Given the description of an element on the screen output the (x, y) to click on. 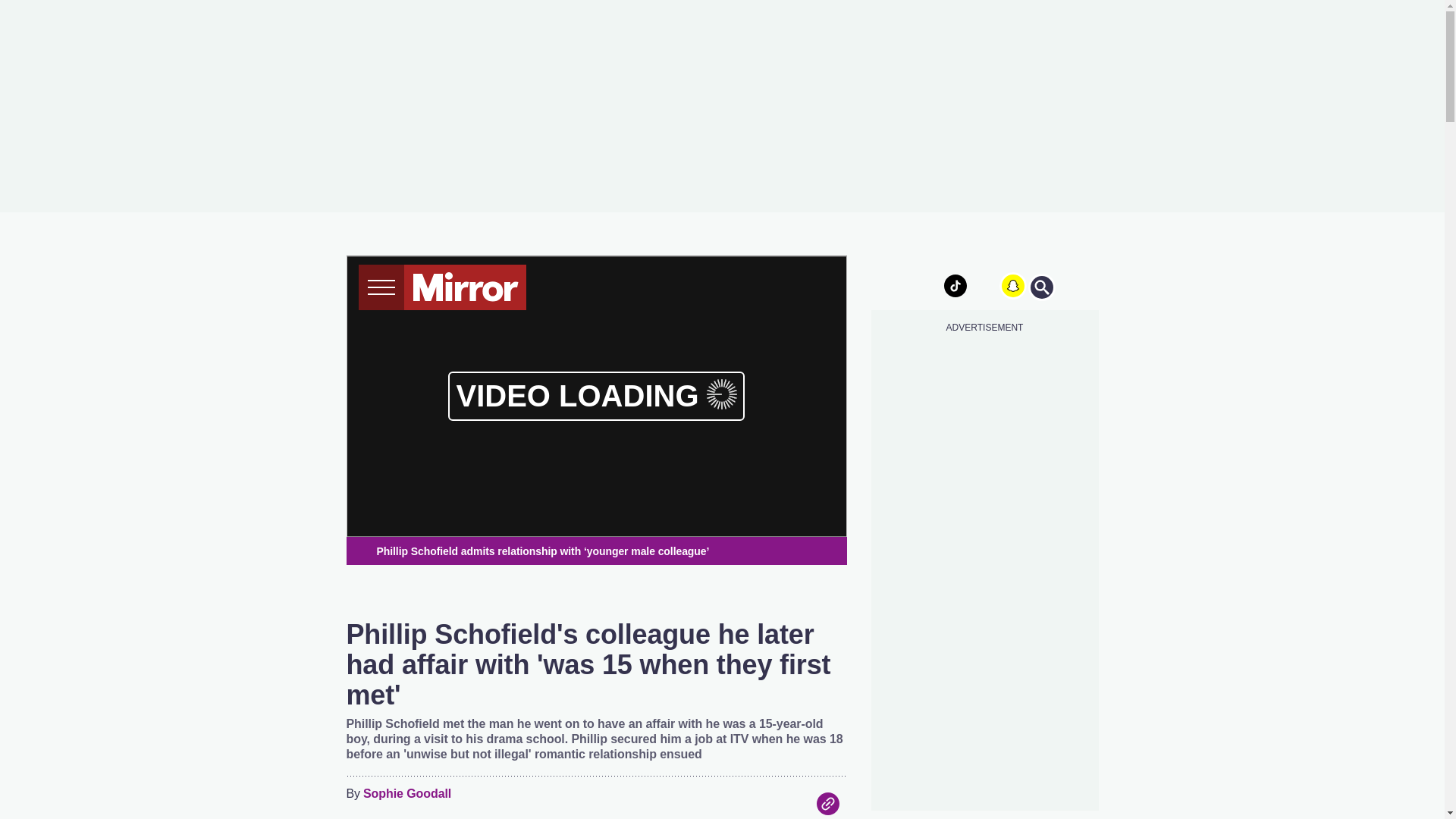
twitter (926, 285)
snapchat (1012, 285)
facebook (897, 285)
instagram (984, 285)
Whatsapp (797, 803)
Sophie Goodall (406, 794)
tiktok (955, 285)
Twitter (766, 803)
Facebook (736, 803)
